Given the description of an element on the screen output the (x, y) to click on. 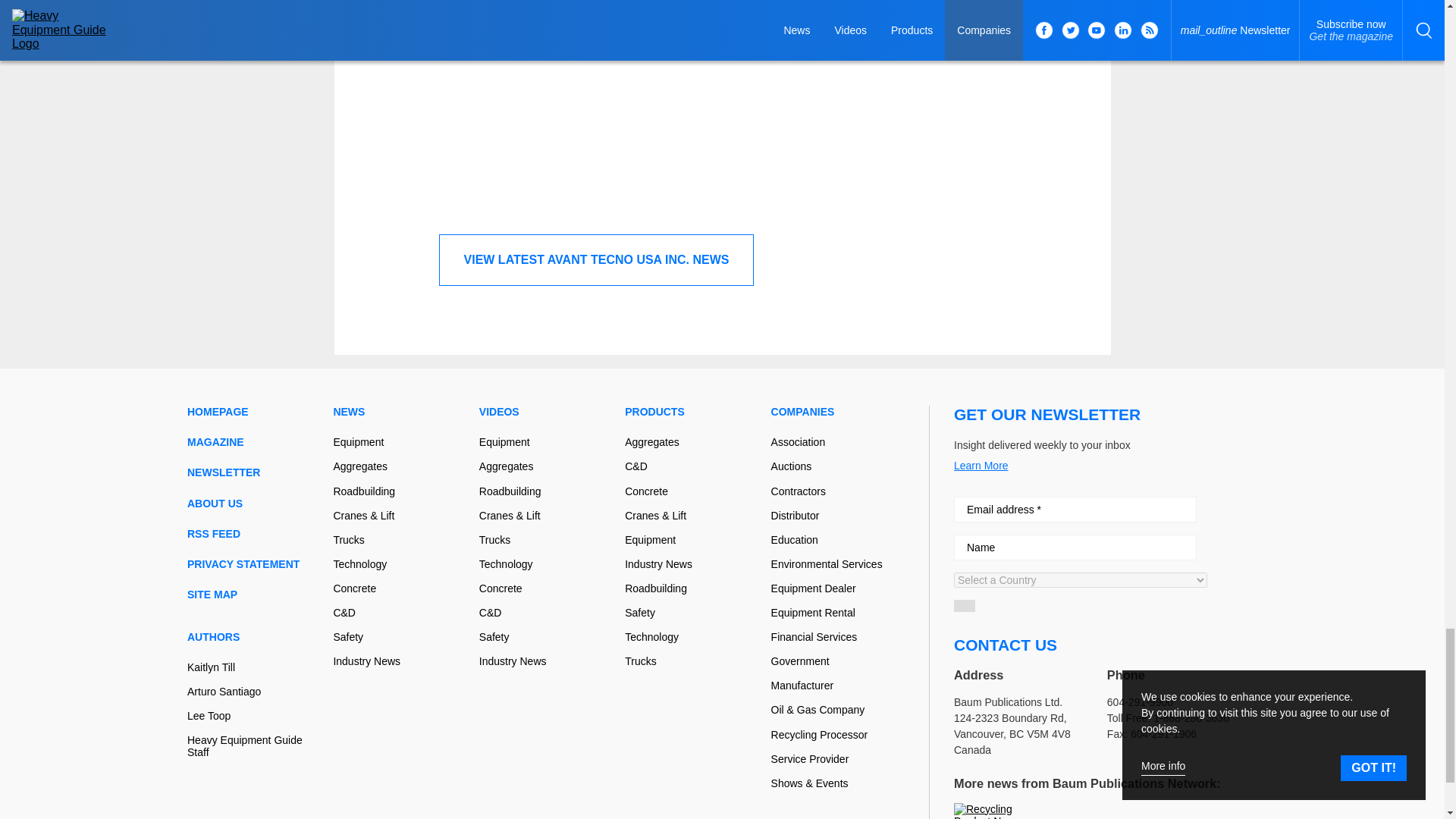
ABOUT US (253, 503)
HOMEPAGE (253, 411)
NEWSLETTER (253, 472)
MAGAZINE (253, 441)
RSS FEED (253, 533)
VIEW LATEST AVANT TECNO USA INC. NEWS (596, 259)
